Given the description of an element on the screen output the (x, y) to click on. 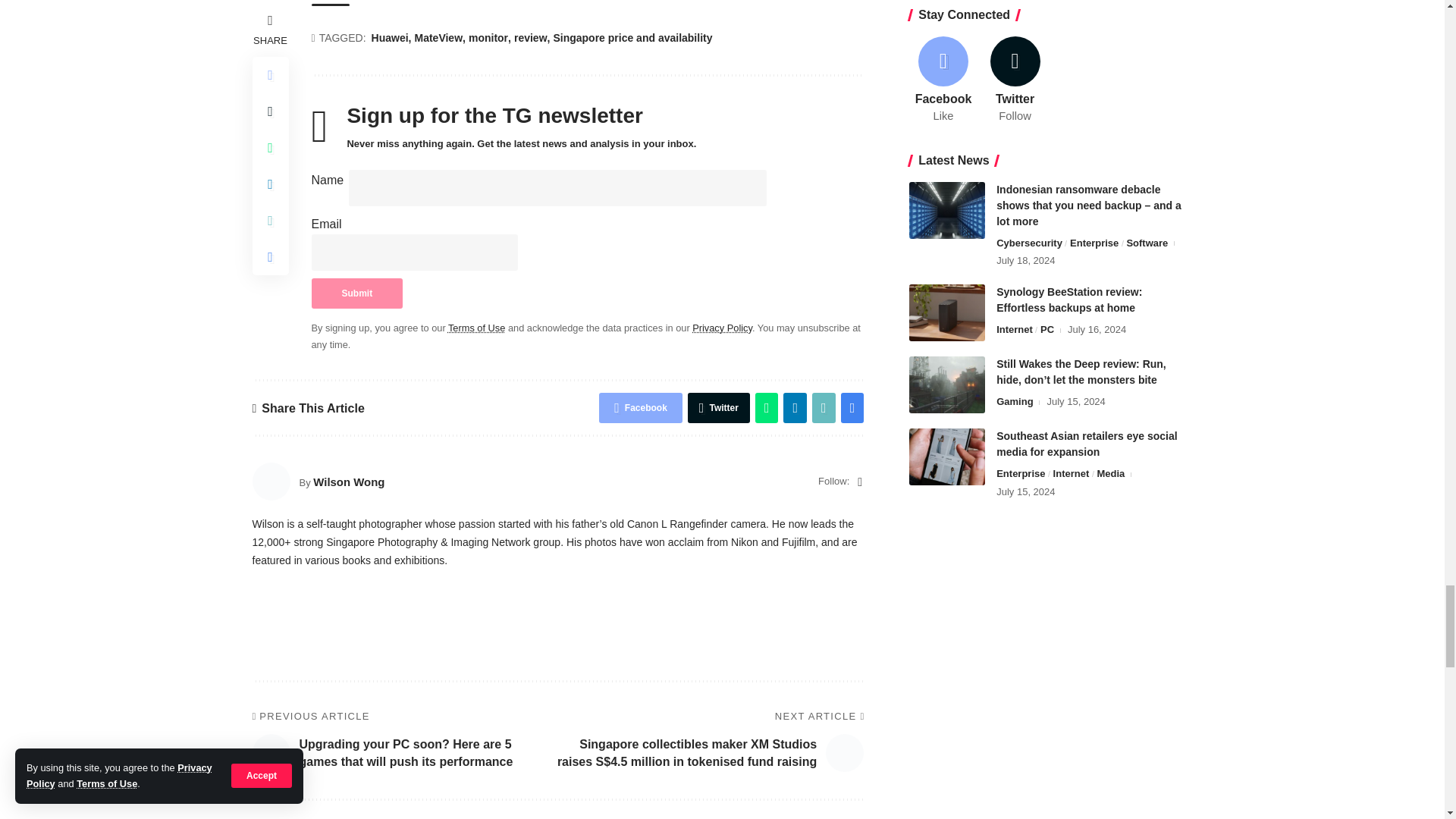
Submit (357, 293)
